Given the description of an element on the screen output the (x, y) to click on. 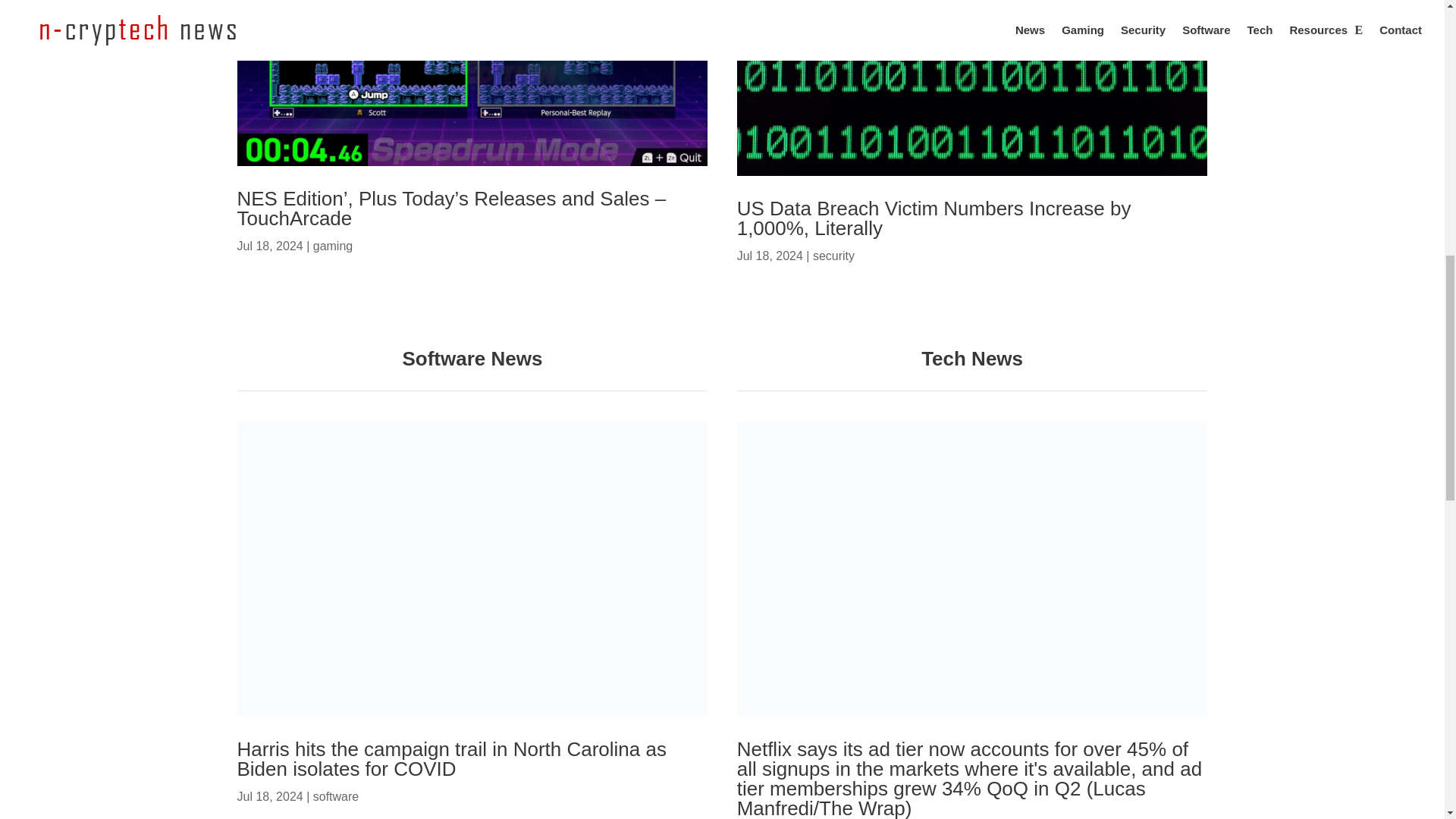
software (335, 796)
gaming (332, 245)
security (833, 255)
